Given the description of an element on the screen output the (x, y) to click on. 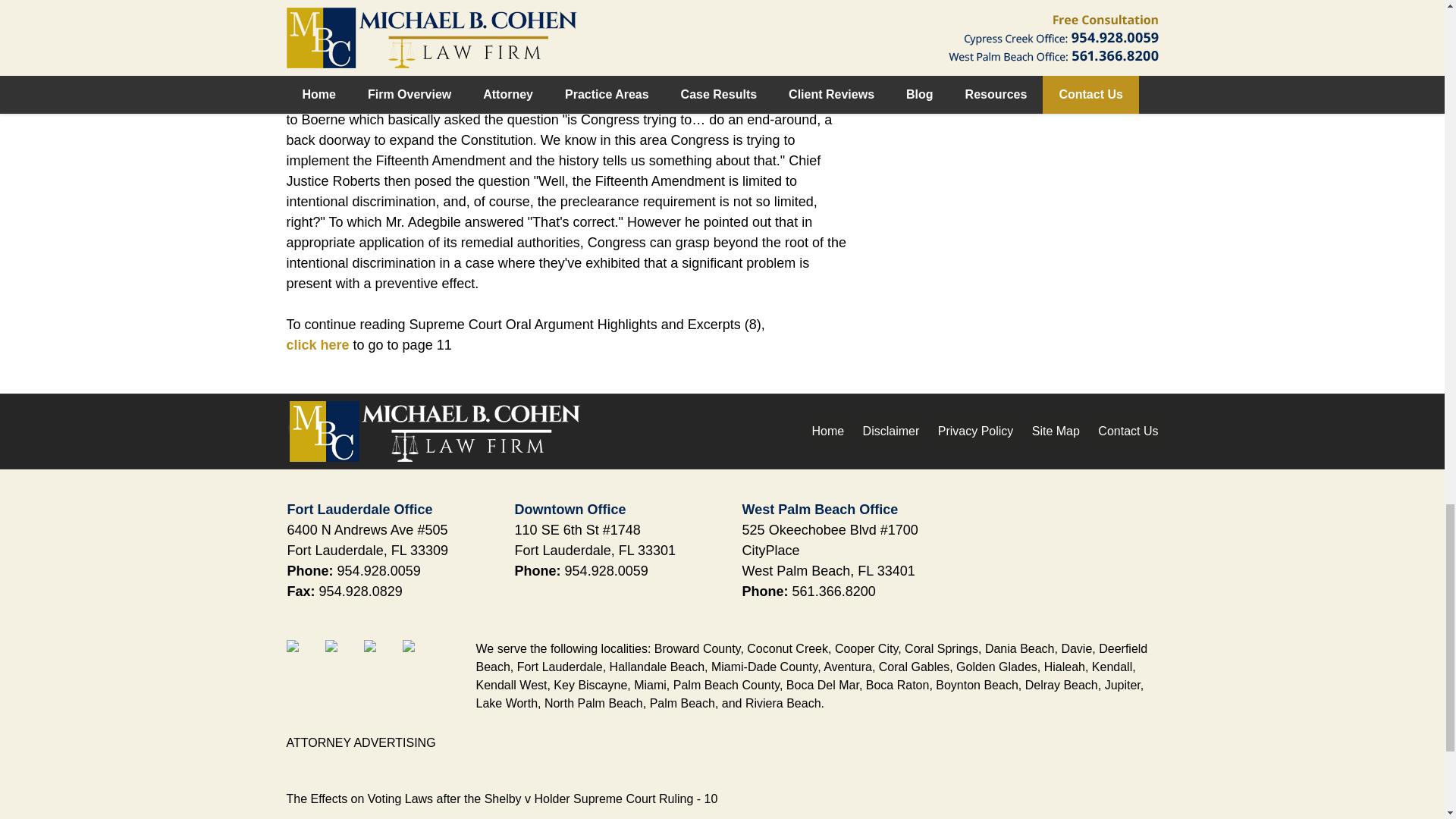
Facebook (303, 656)
click here (317, 344)
Instagram (420, 656)
Twitter (341, 656)
Justia (381, 656)
